Given the description of an element on the screen output the (x, y) to click on. 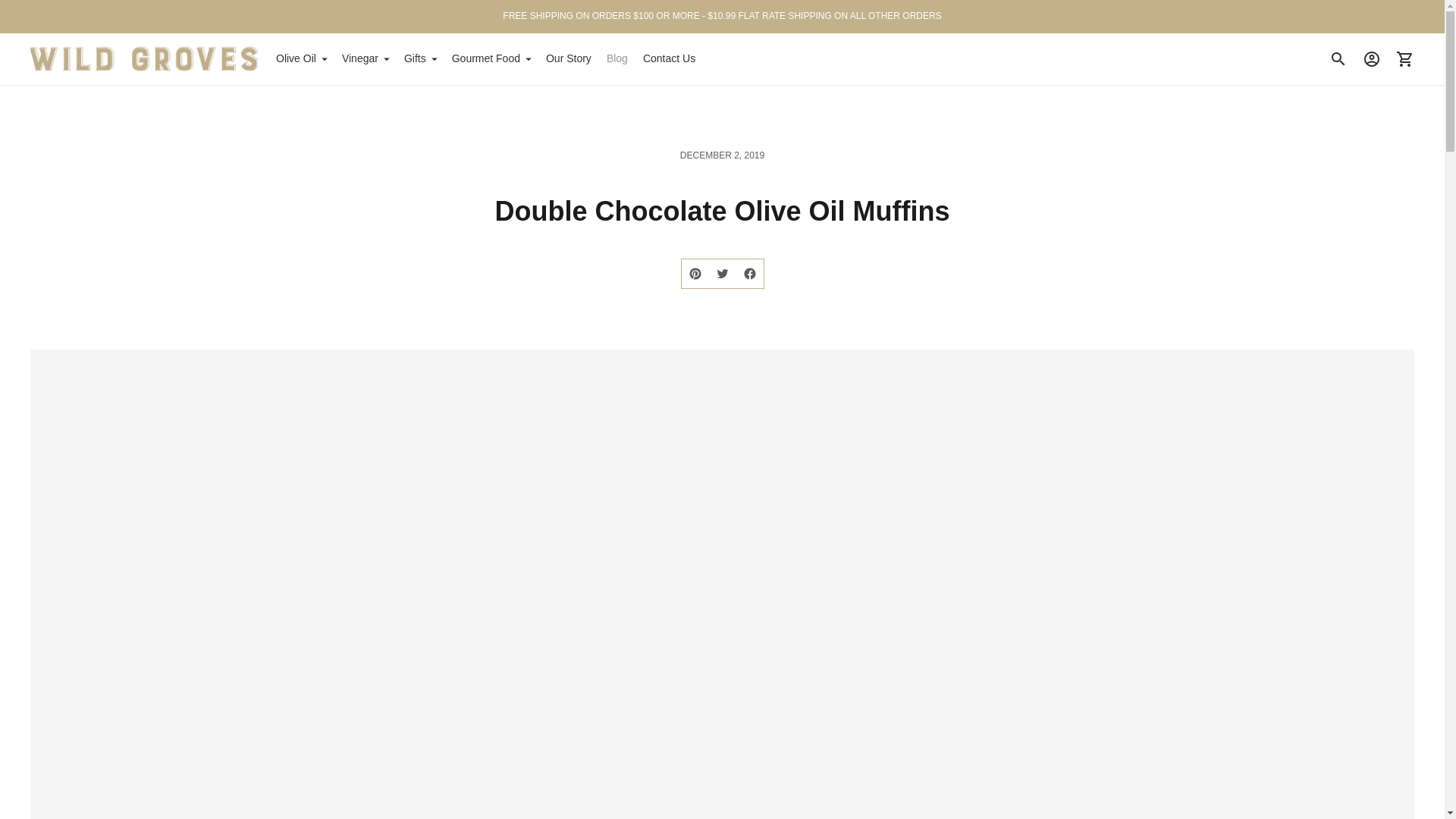
Share to Facebook (748, 273)
Olive Oil (301, 59)
Gifts (420, 59)
Contact Us (669, 59)
Share to Pinterest (694, 273)
Vinegar (365, 59)
Gourmet Food (491, 59)
Search (1338, 59)
Share to twitter (721, 273)
Cart (1405, 59)
Account (1372, 59)
Our Story (568, 59)
